Given the description of an element on the screen output the (x, y) to click on. 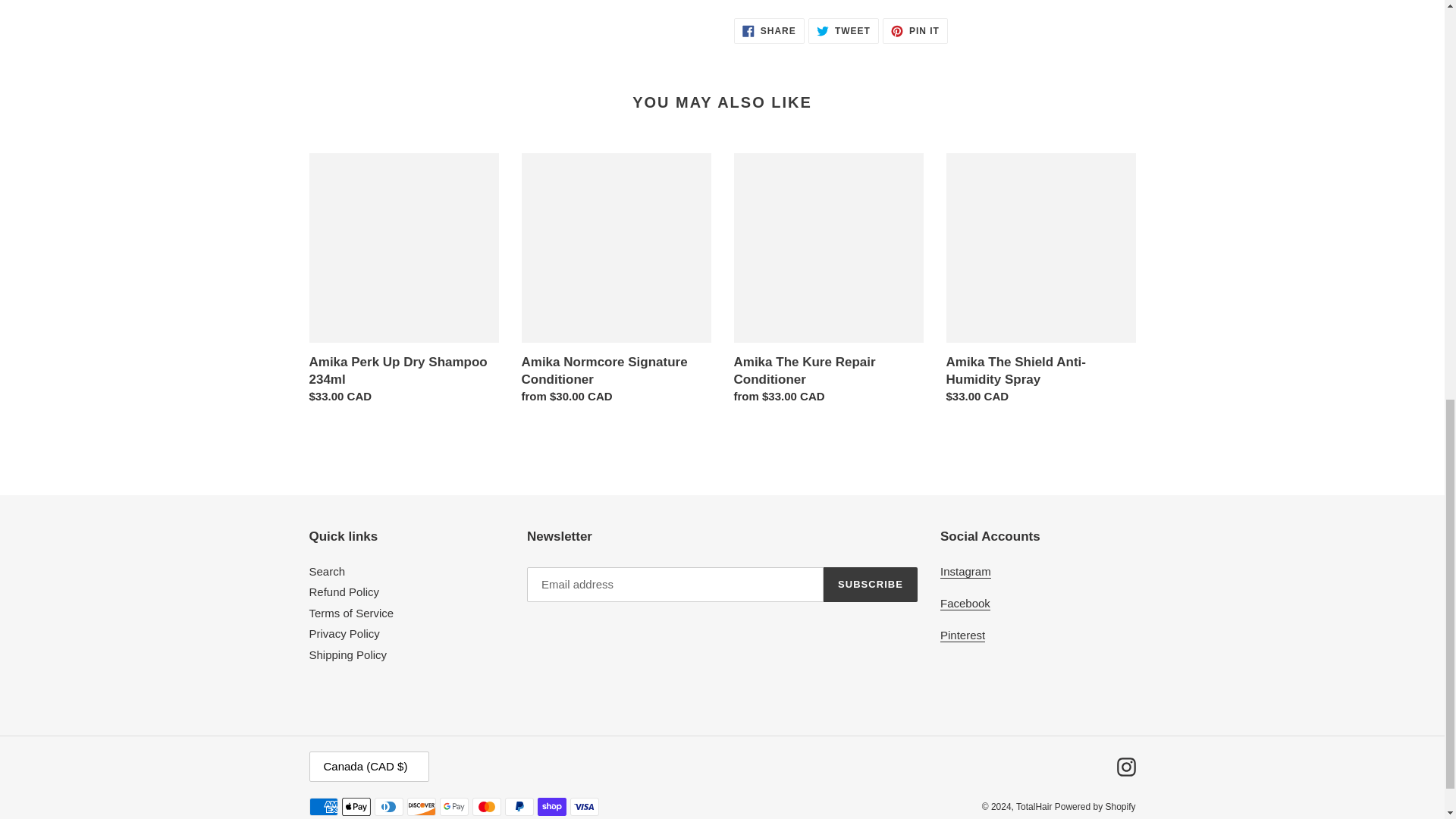
Search (327, 571)
Terms of Service (351, 612)
Refund Policy (344, 591)
Shipping Policy (347, 654)
Facebook (965, 603)
Privacy Policy (344, 633)
Pinterest (962, 635)
Instagram (965, 571)
